Given the description of an element on the screen output the (x, y) to click on. 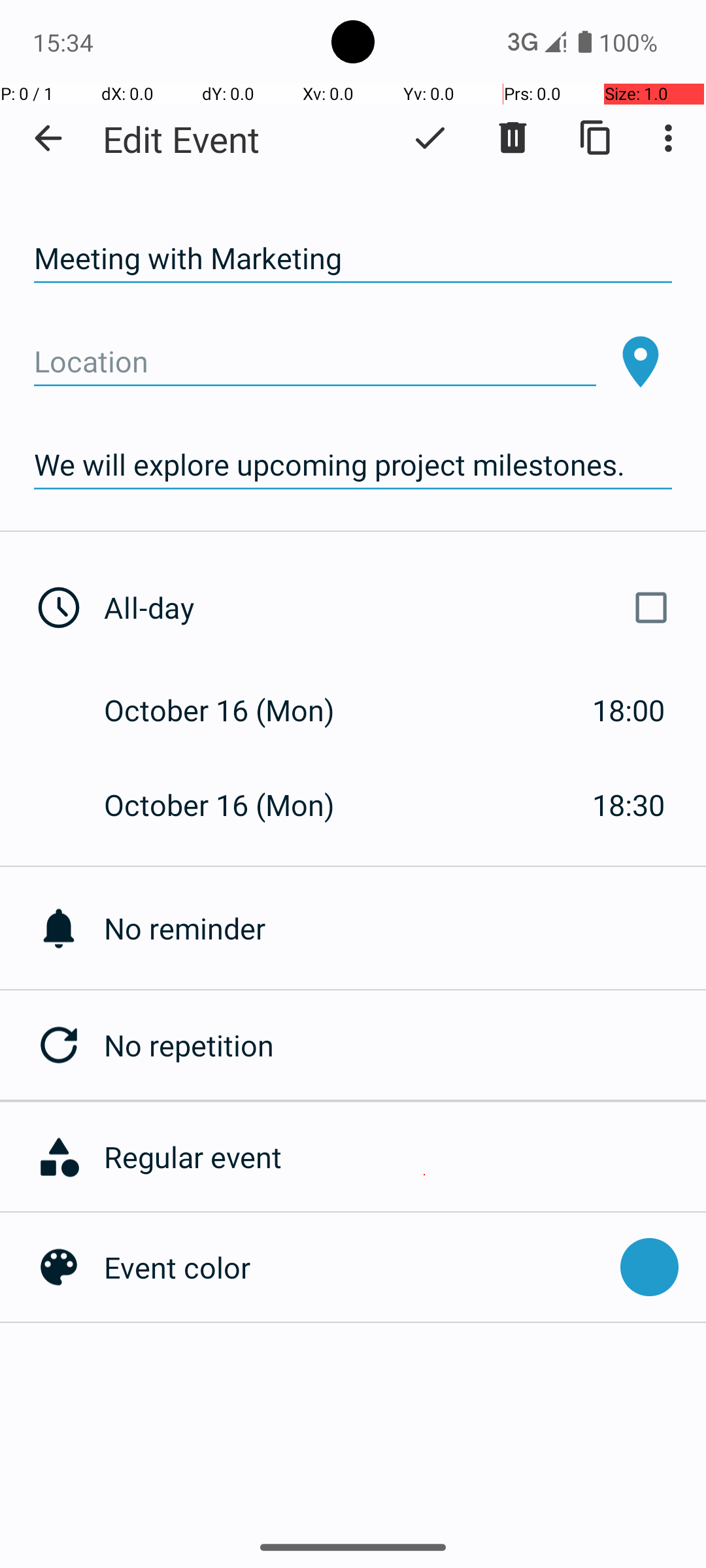
Meeting with Marketing Element type: android.widget.EditText (352, 258)
We will explore upcoming project milestones. Element type: android.widget.EditText (352, 465)
October 16 (Mon) Element type: android.widget.TextView (232, 709)
18:00 Element type: android.widget.TextView (628, 709)
18:30 Element type: android.widget.TextView (628, 804)
